Given the description of an element on the screen output the (x, y) to click on. 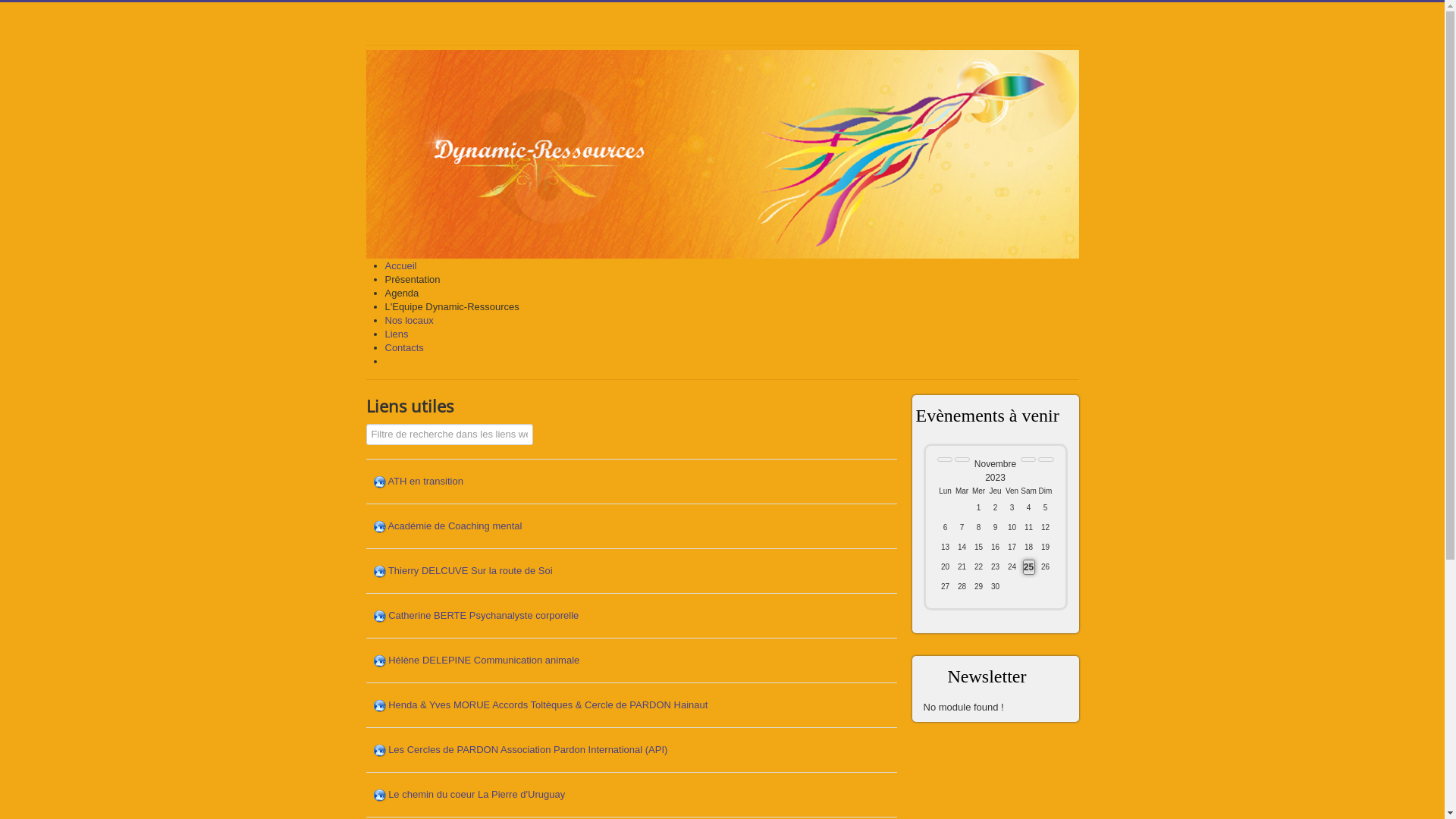
Filtre de recherche dans les liens web. Element type: hover (448, 434)
Contacts Element type: text (404, 347)
Accueil Element type: text (401, 265)
Thierry DELCUVE Sur la route de Soi Element type: text (470, 570)
Catherine BERTE Psychanalyste corporelle Element type: text (483, 615)
Liens Element type: text (396, 333)
ATH en transition Element type: text (424, 480)
Nos locaux Element type: text (409, 320)
cozyfine.com Element type: text (74, 36)
Le chemin du coeur La Pierre d'Uruguay Element type: text (476, 794)
Les Cercles de PARDON Association Pardon International (API) Element type: text (527, 749)
